Given the description of an element on the screen output the (x, y) to click on. 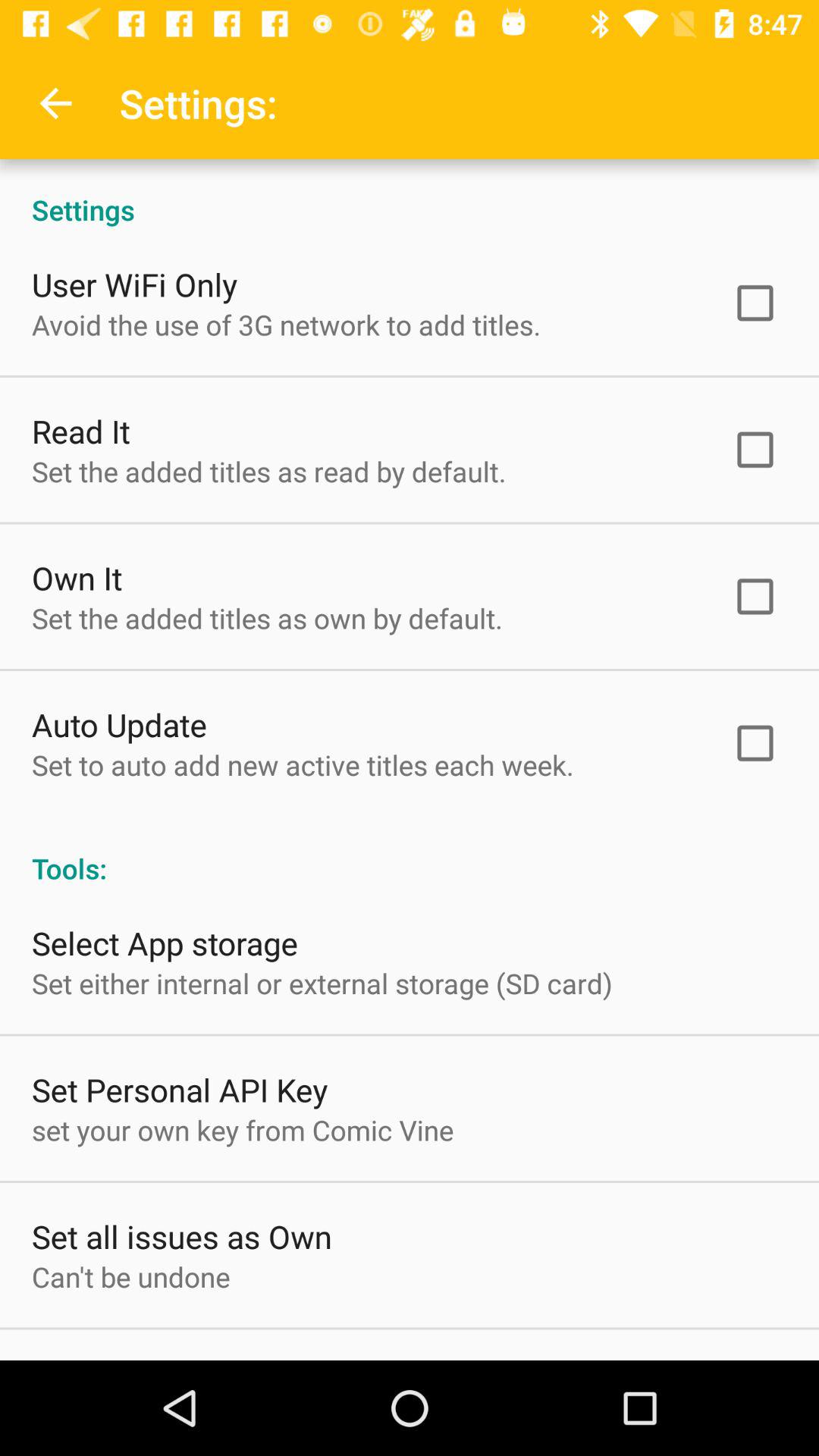
swipe to read it item (80, 430)
